Given the description of an element on the screen output the (x, y) to click on. 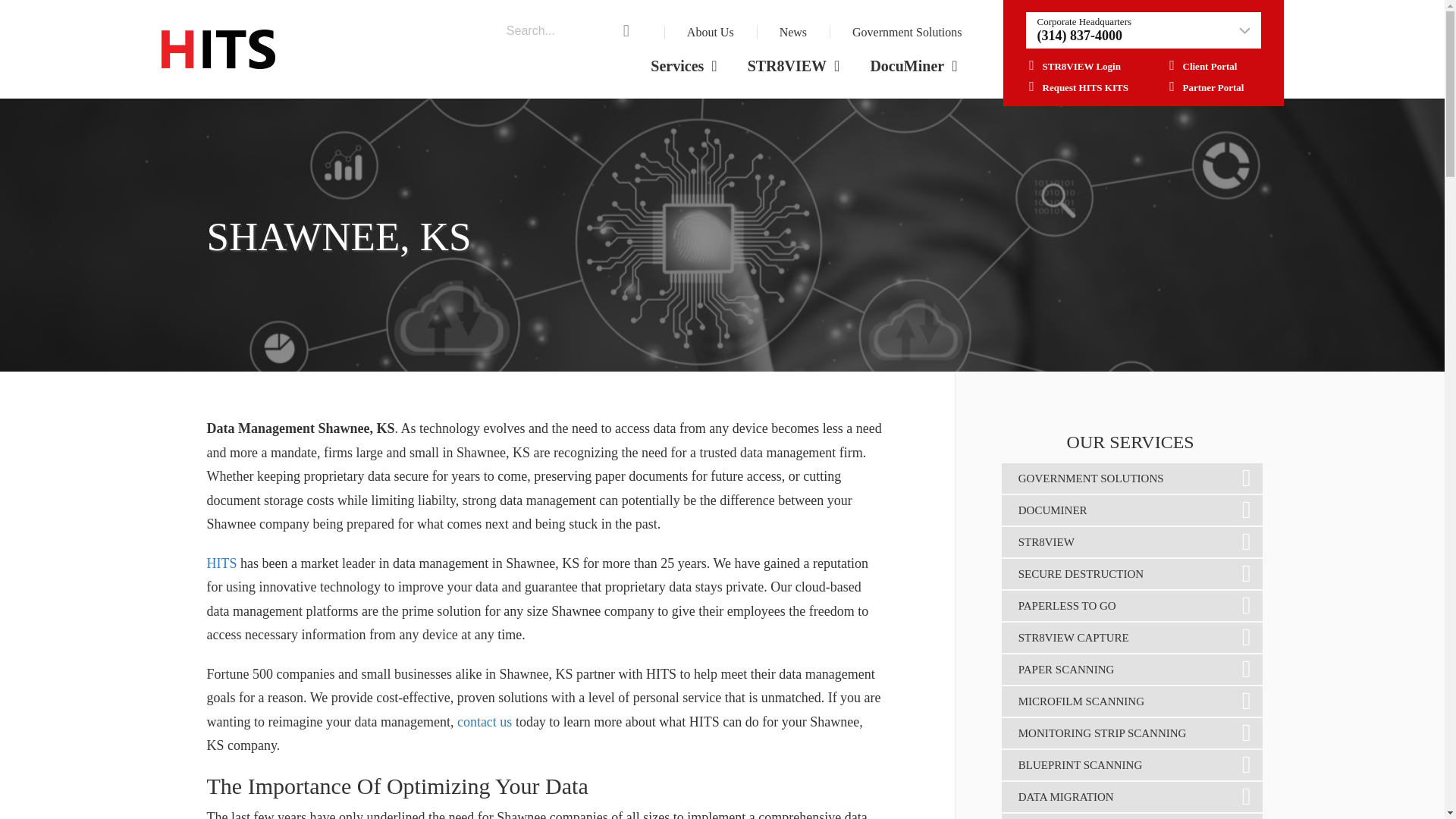
About Us (710, 31)
Partner Portal (1203, 87)
HITS (220, 562)
STR8VIEW (794, 65)
Services (683, 65)
Request HITS KITS (1075, 87)
Client Portal (1199, 66)
DocuMiner (913, 65)
contact us (484, 721)
News (792, 31)
STR8VIEW Login (1072, 66)
Search (15, 0)
Government Solutions (905, 31)
